Given the description of an element on the screen output the (x, y) to click on. 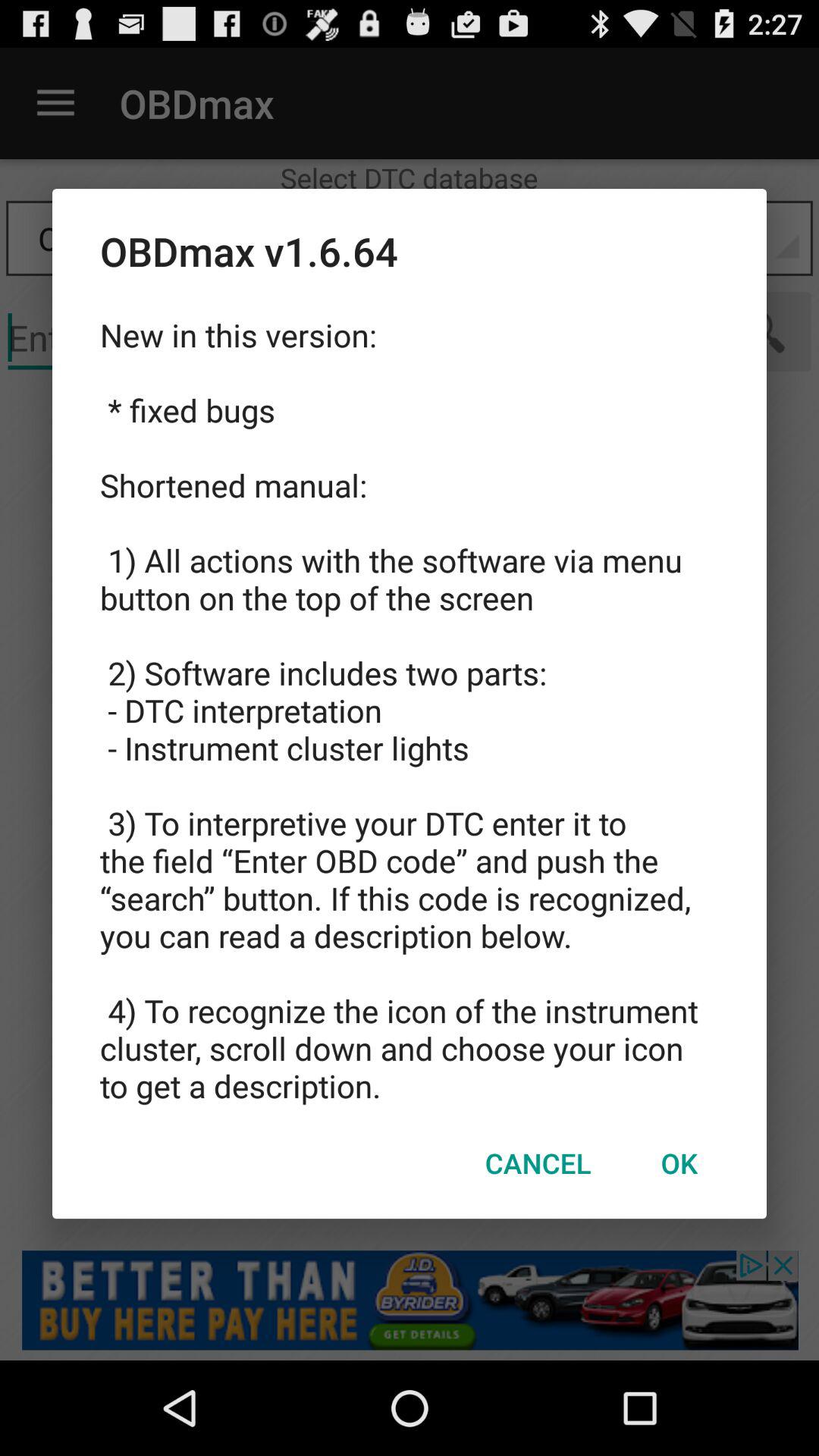
choose item next to the cancel (678, 1162)
